Given the description of an element on the screen output the (x, y) to click on. 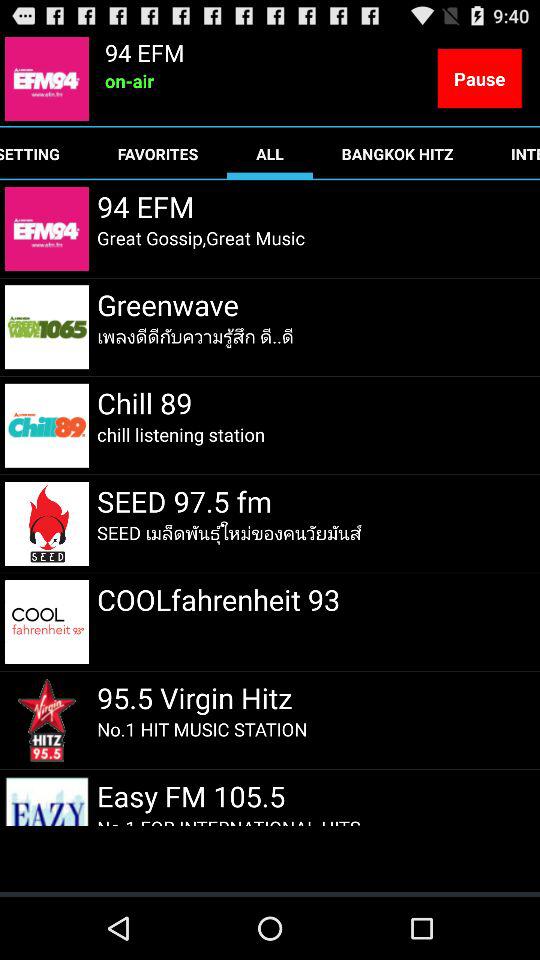
tap the app below chill 89 (181, 434)
